Given the description of an element on the screen output the (x, y) to click on. 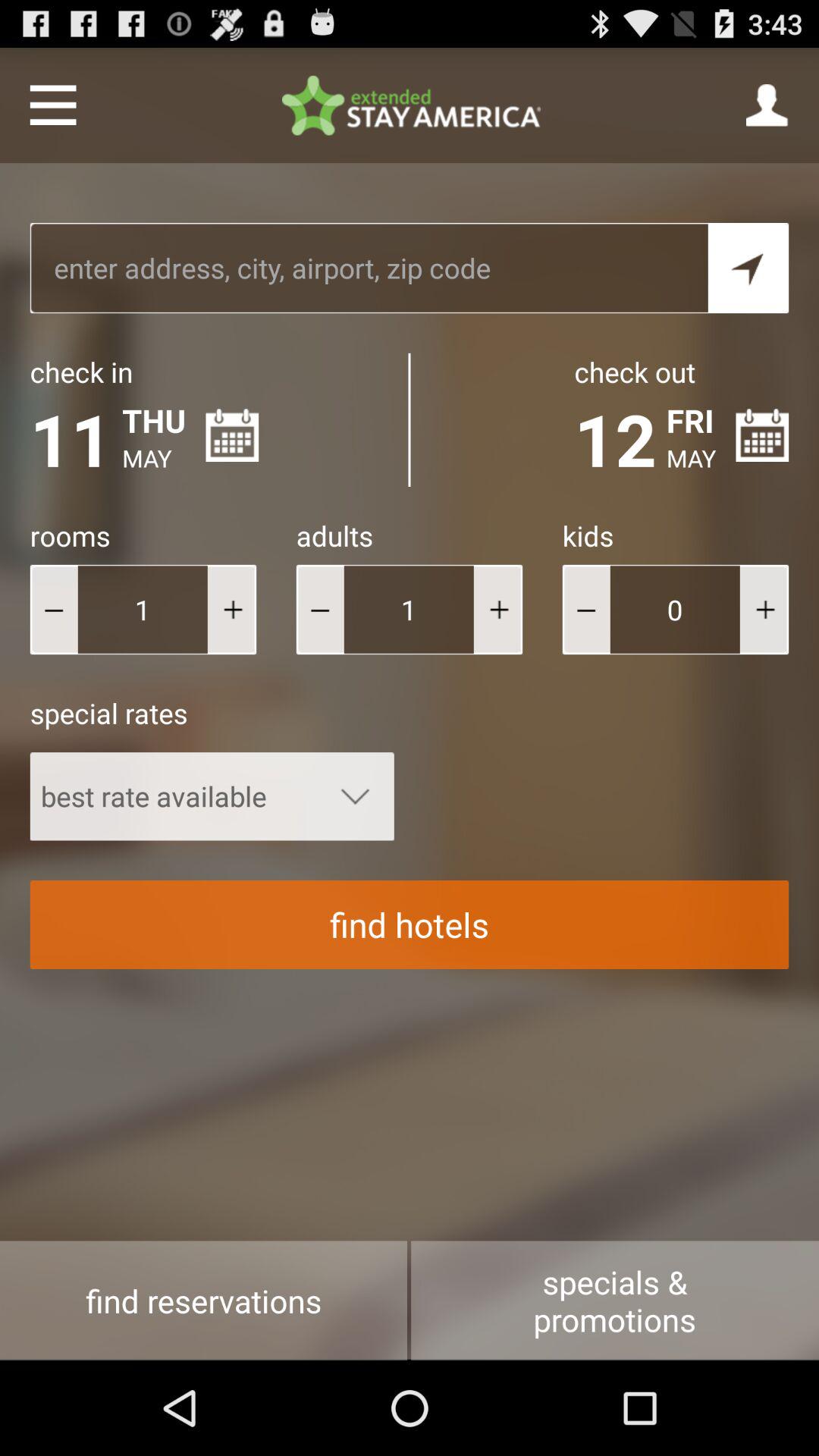
toggle to next number (231, 609)
